Given the description of an element on the screen output the (x, y) to click on. 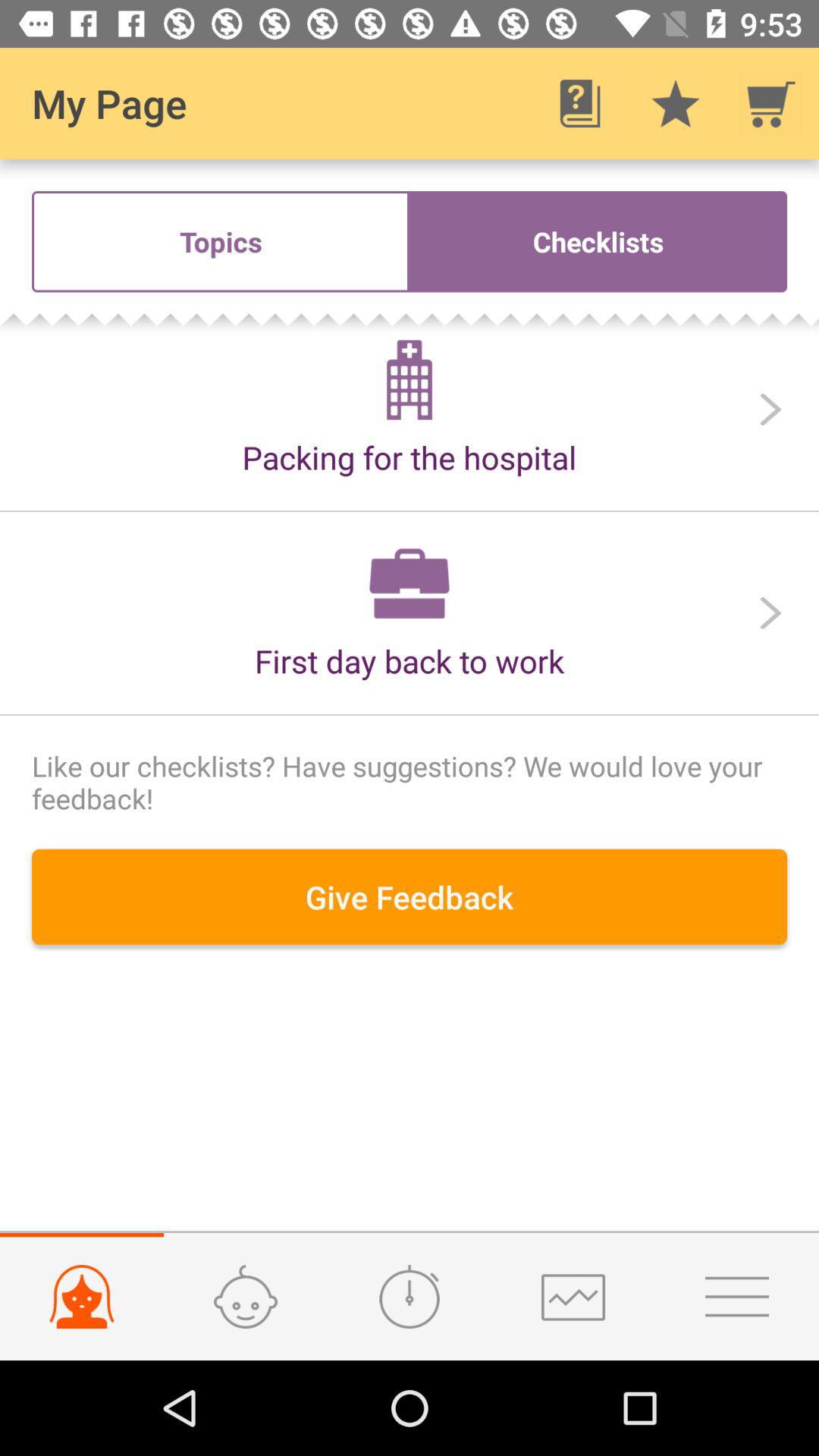
choose app next to my page icon (579, 103)
